Given the description of an element on the screen output the (x, y) to click on. 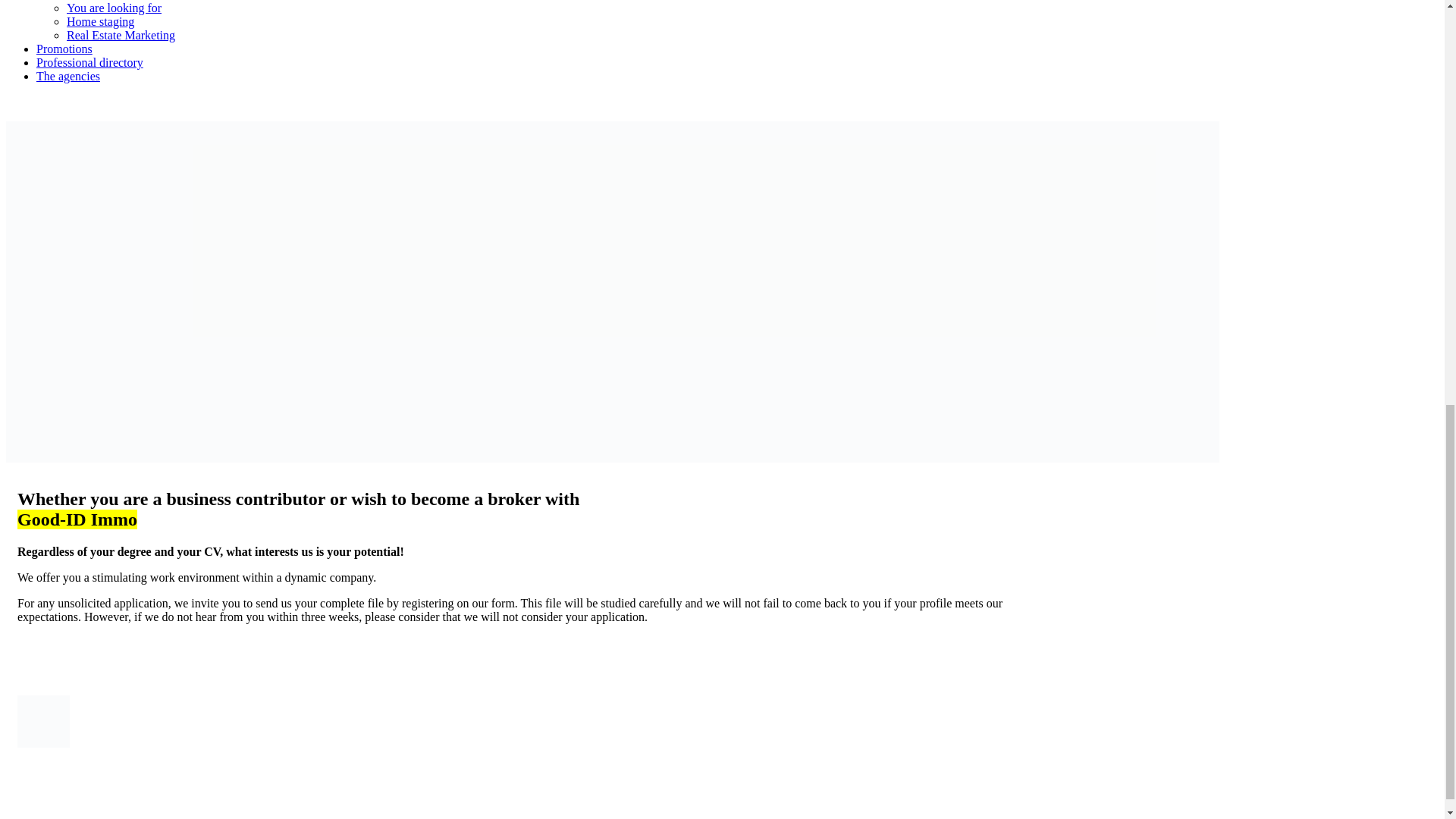
Real Estate Marketing (120, 34)
Home staging (99, 21)
You are looking for (113, 7)
Promotions (64, 48)
022 548 38 03 (40, 101)
The agencies (68, 75)
Relocation (92, 0)
Professional directory (89, 62)
